Given the description of an element on the screen output the (x, y) to click on. 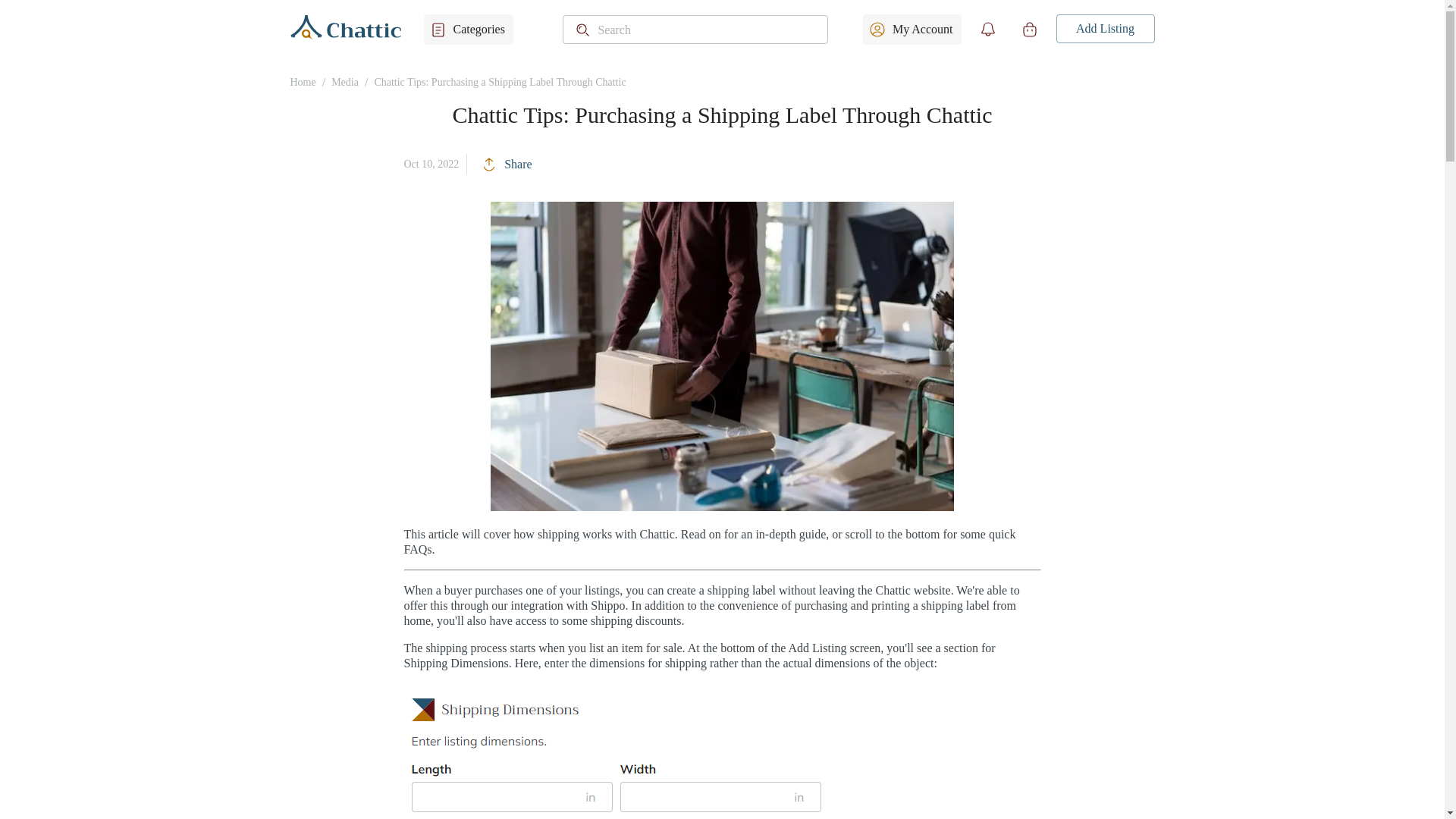
Media (344, 81)
My Account (911, 29)
Add Listing (1104, 28)
Categories (467, 29)
Home (302, 81)
Share (507, 164)
